Given the description of an element on the screen output the (x, y) to click on. 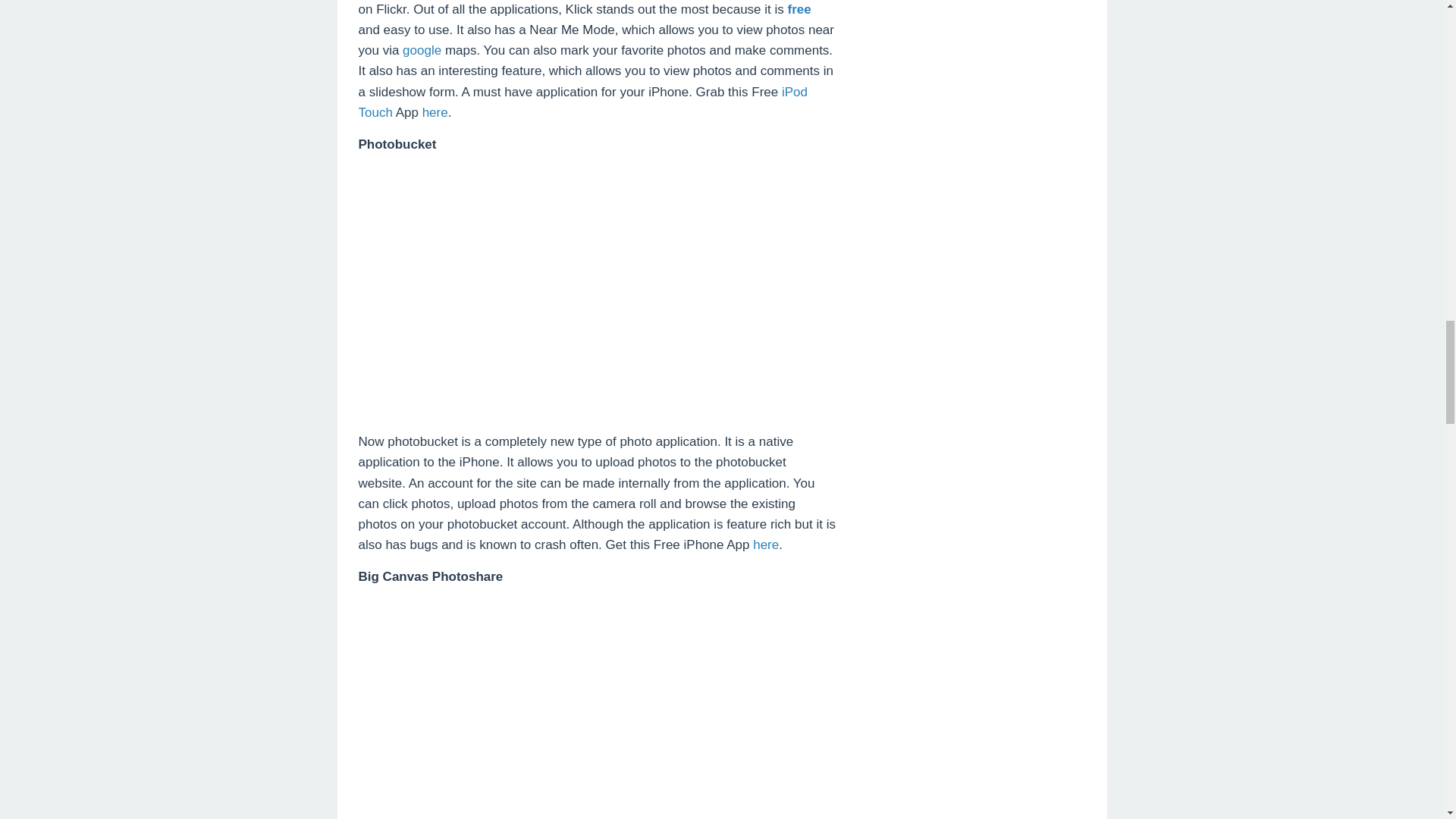
free (798, 9)
google (422, 50)
Big Canvas Photoshare (596, 708)
Photobucket for iphone (596, 286)
